Given the description of an element on the screen output the (x, y) to click on. 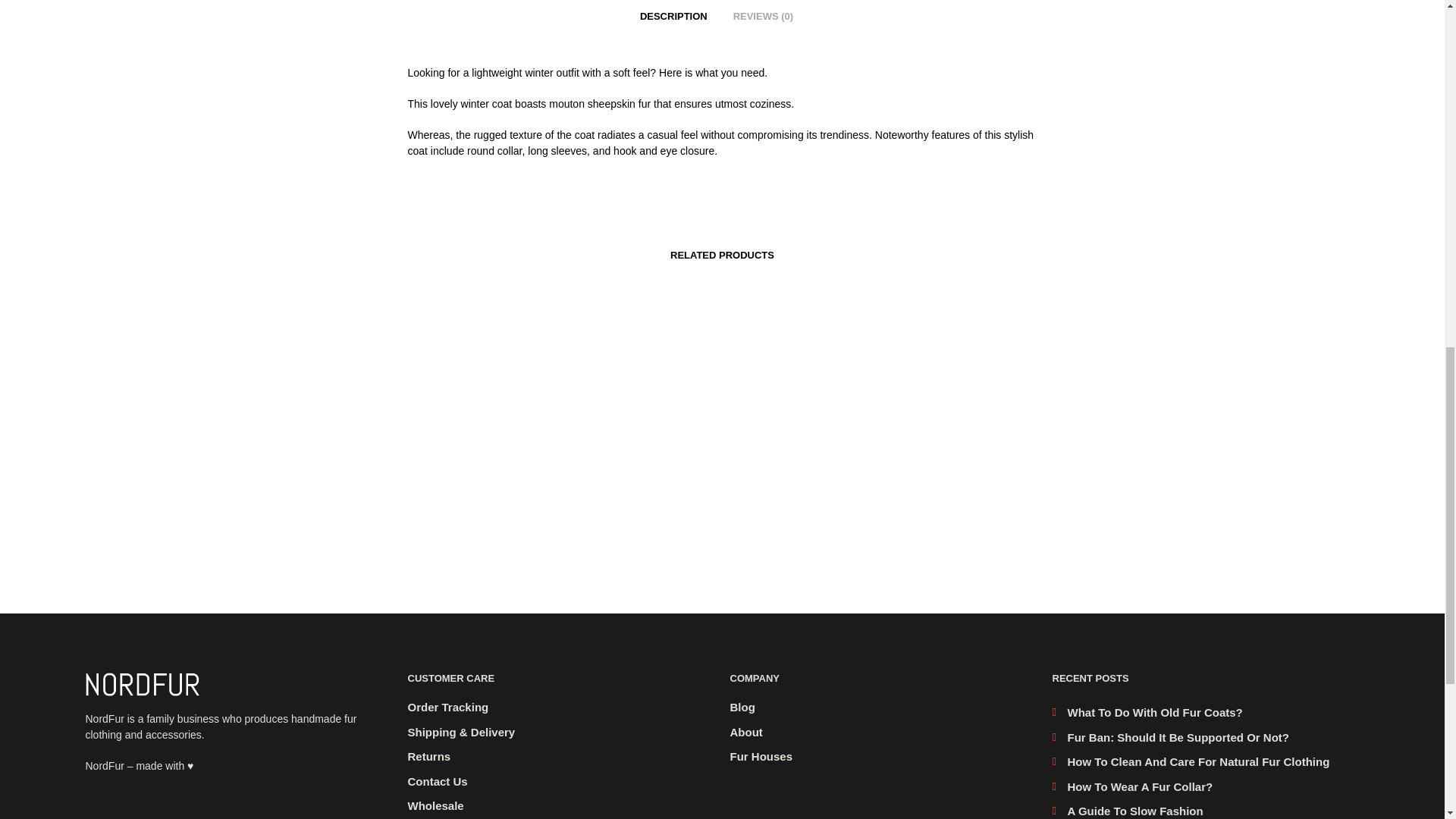
DESCRIPTION (673, 13)
